Given the description of an element on the screen output the (x, y) to click on. 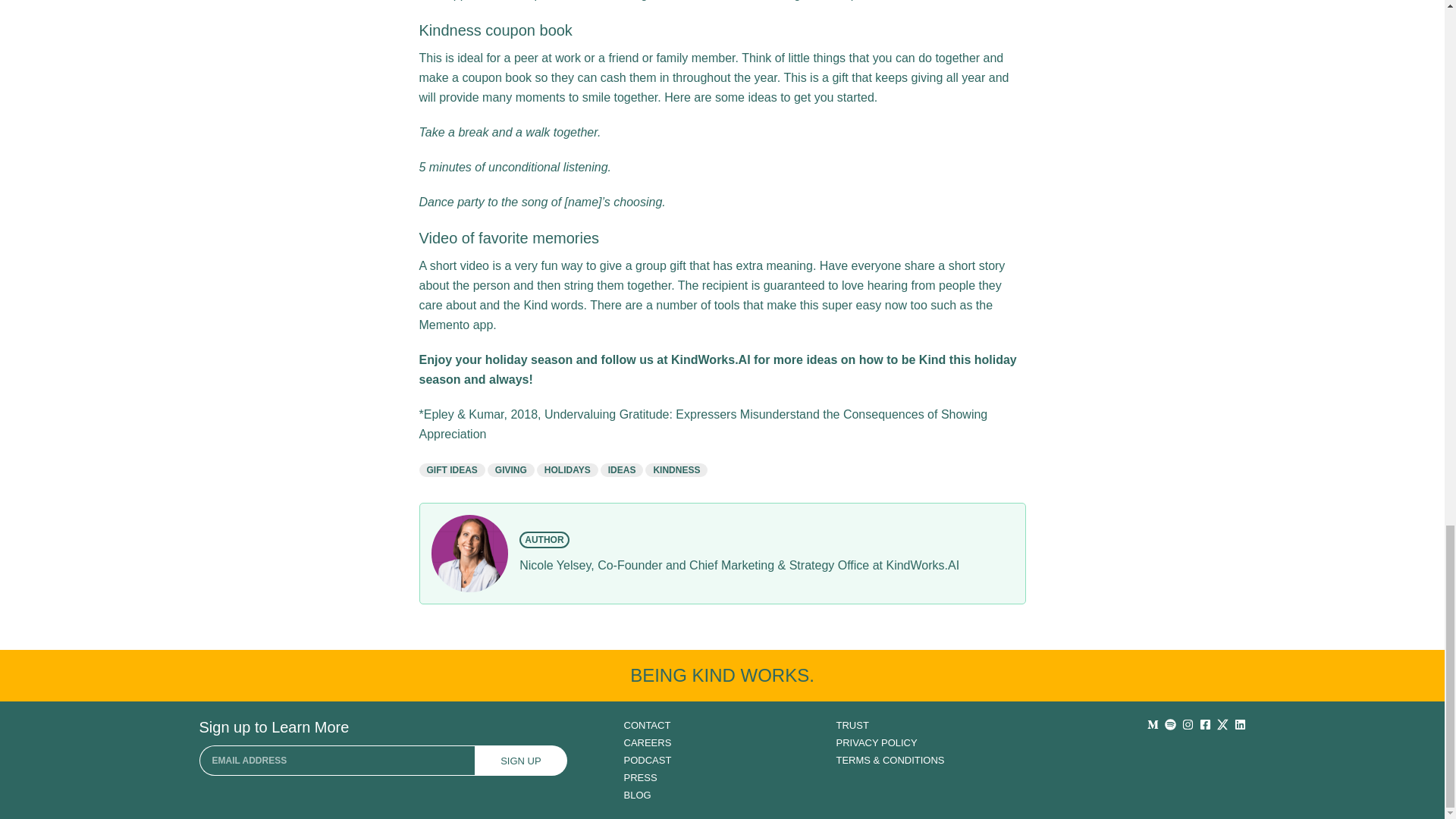
HOLIDAYS (567, 469)
PRIVACY POLICY (933, 742)
IDEAS (621, 469)
GIVING (510, 469)
KINDNESS (676, 469)
PRESS (722, 777)
BLOG (722, 794)
TRUST (933, 724)
GIFT IDEAS (451, 469)
PODCAST (722, 760)
